Given the description of an element on the screen output the (x, y) to click on. 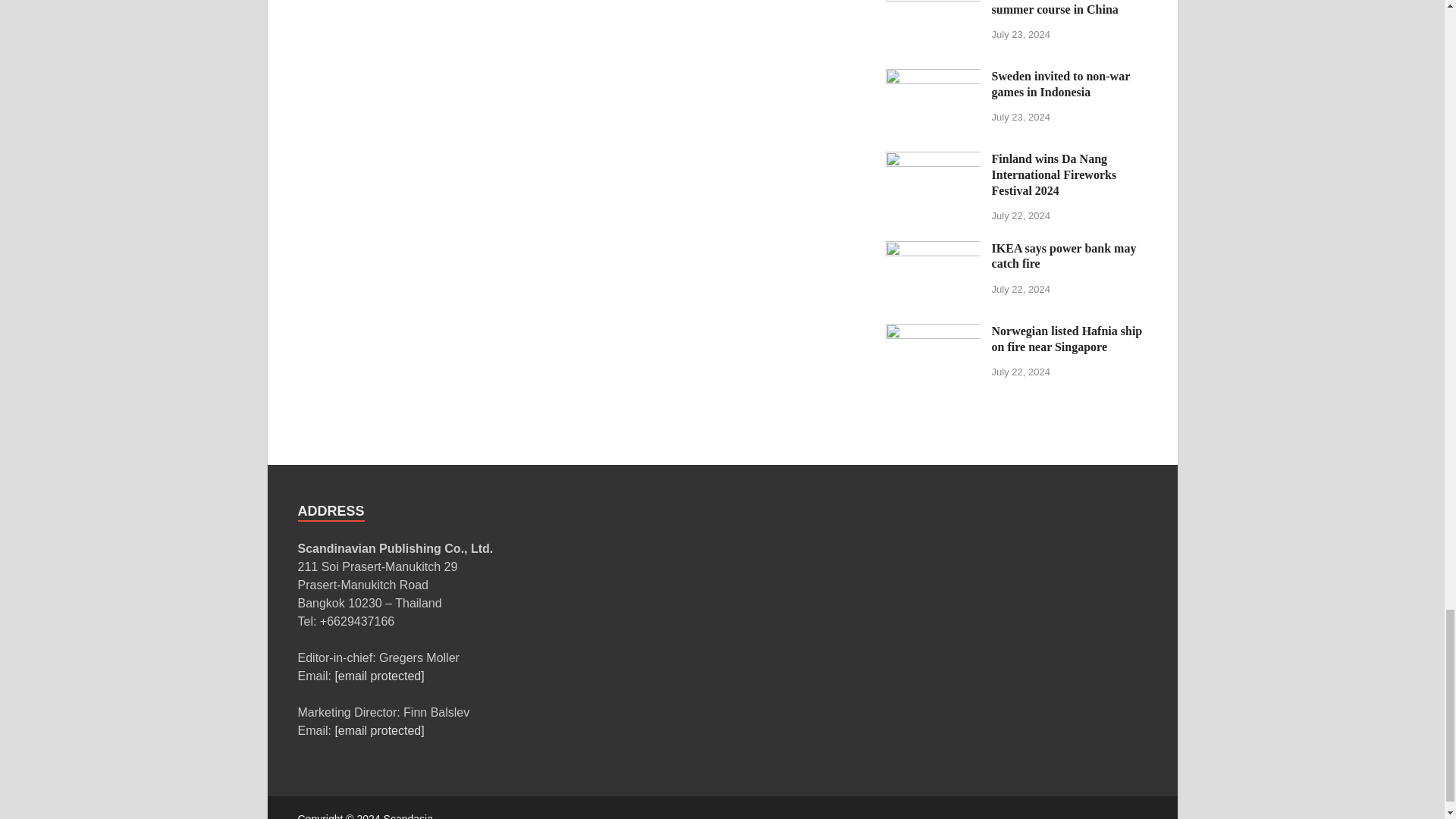
Sweden invited to non-war games in Indonesia (932, 77)
Nordic students attended summer course in China (932, 0)
